Given the description of an element on the screen output the (x, y) to click on. 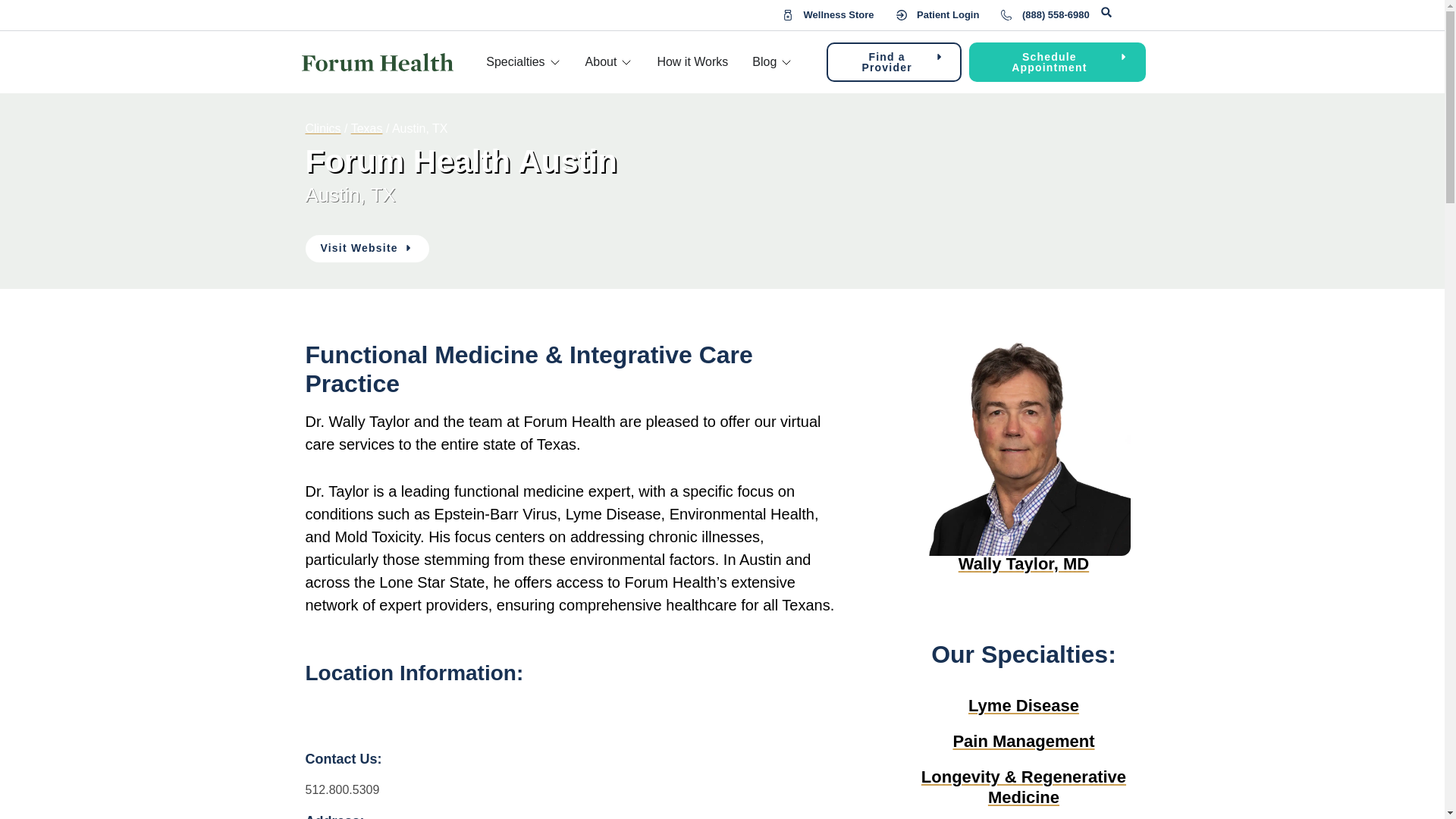
Patient Login (937, 14)
Wellness Store (828, 14)
Go to Clinics. (322, 127)
Specialties (515, 62)
Go to Texas. (366, 127)
